Given the description of an element on the screen output the (x, y) to click on. 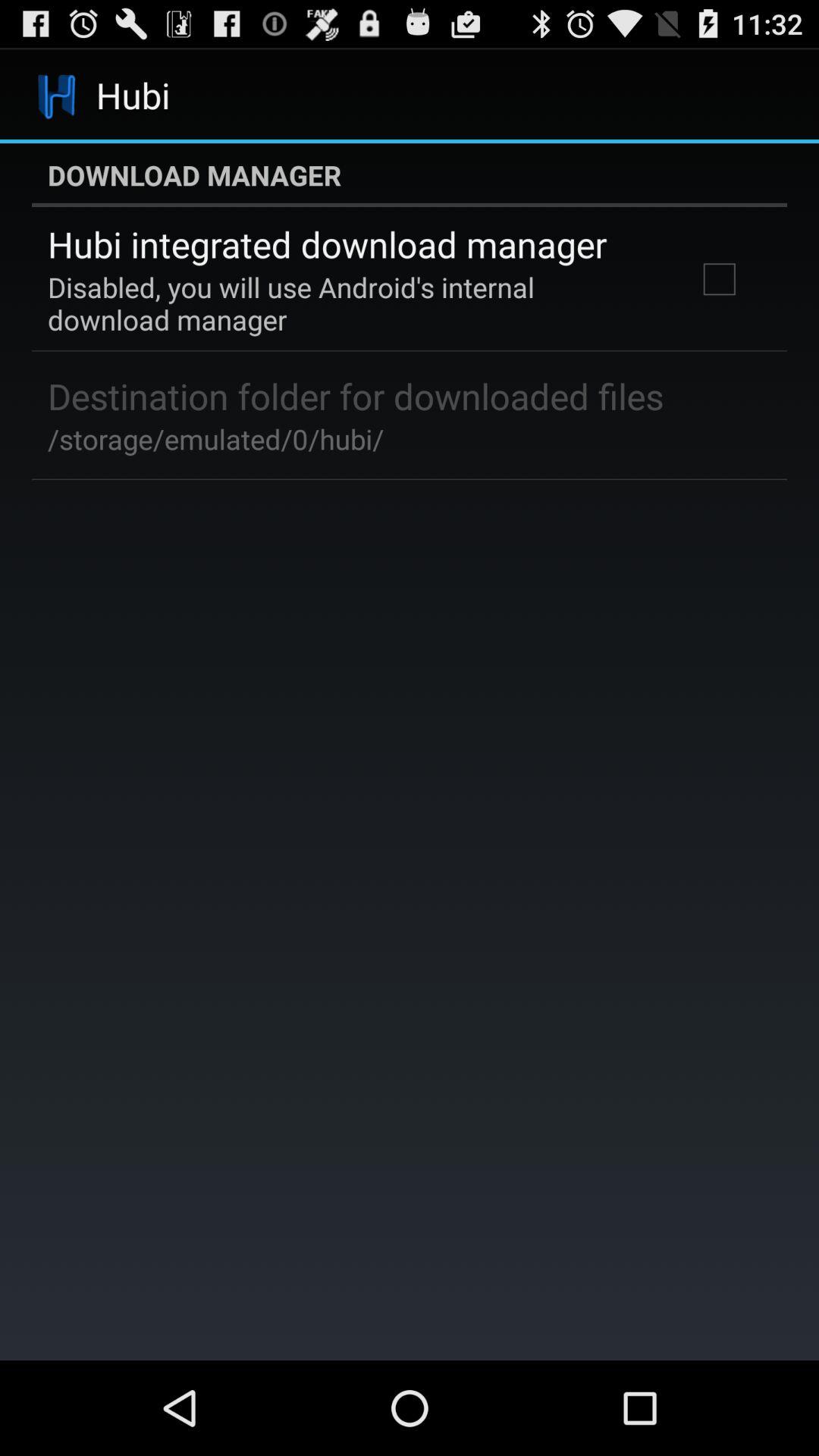
tap icon above the disabled you will (326, 244)
